Given the description of an element on the screen output the (x, y) to click on. 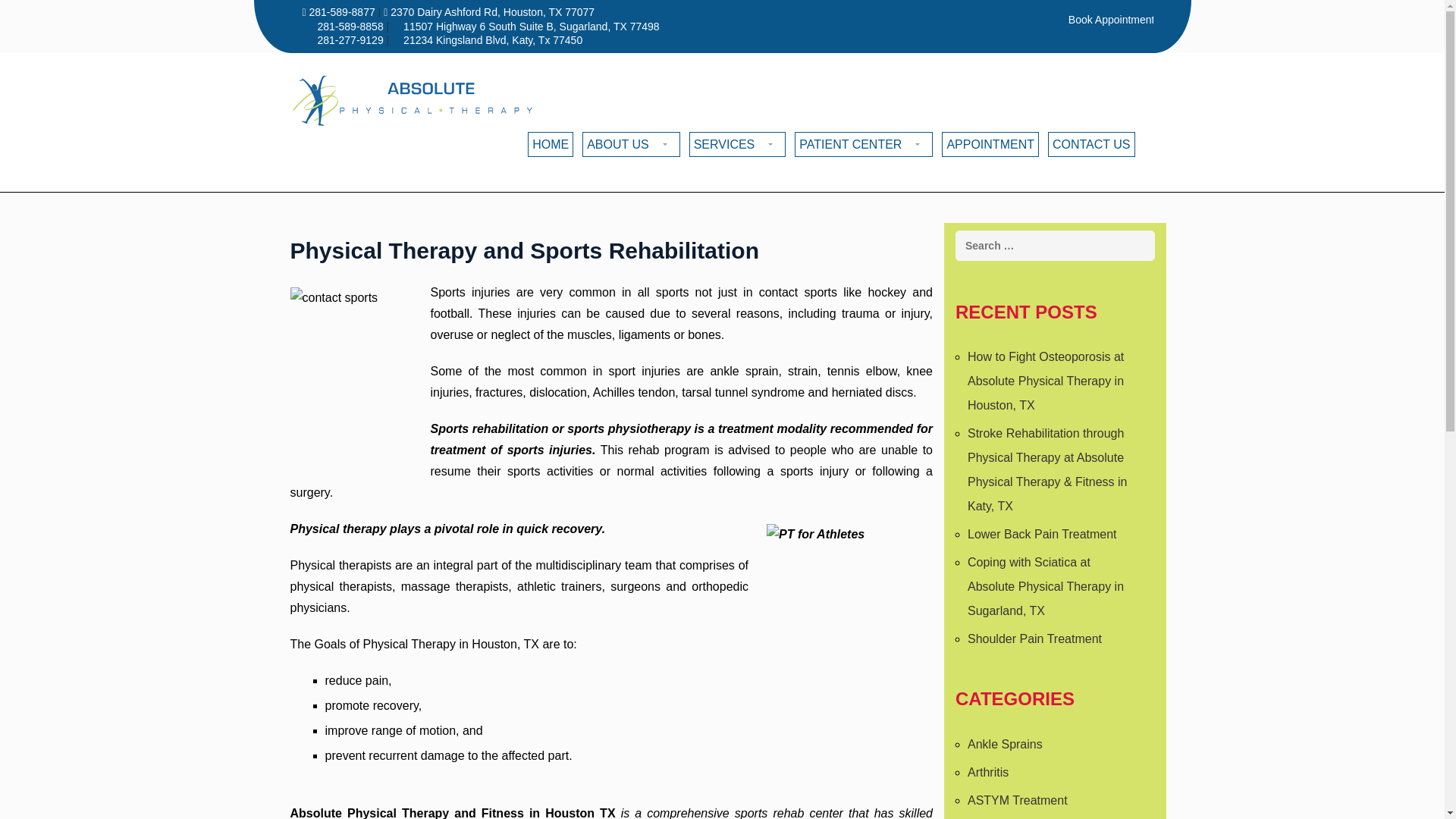
Absolute Physical Therapy (412, 100)
281-277-9129 (351, 39)
CONTACT US (1091, 144)
21234 Kingsland Blvd, Katy, Tx 77450 (492, 39)
11507 Highway 6 South Suite B, Sugarland, TX 77498 (531, 26)
281-589-8877 (339, 11)
PATIENT CENTER (863, 144)
 Book Appointment (1109, 19)
HOME (550, 144)
2370 Dairy Ashford Rd, Houston, TX 77077 (489, 11)
APPOINTMENT (990, 144)
281-589-8858 (351, 26)
SERVICES (737, 144)
ABOUT US (630, 144)
